Given the description of an element on the screen output the (x, y) to click on. 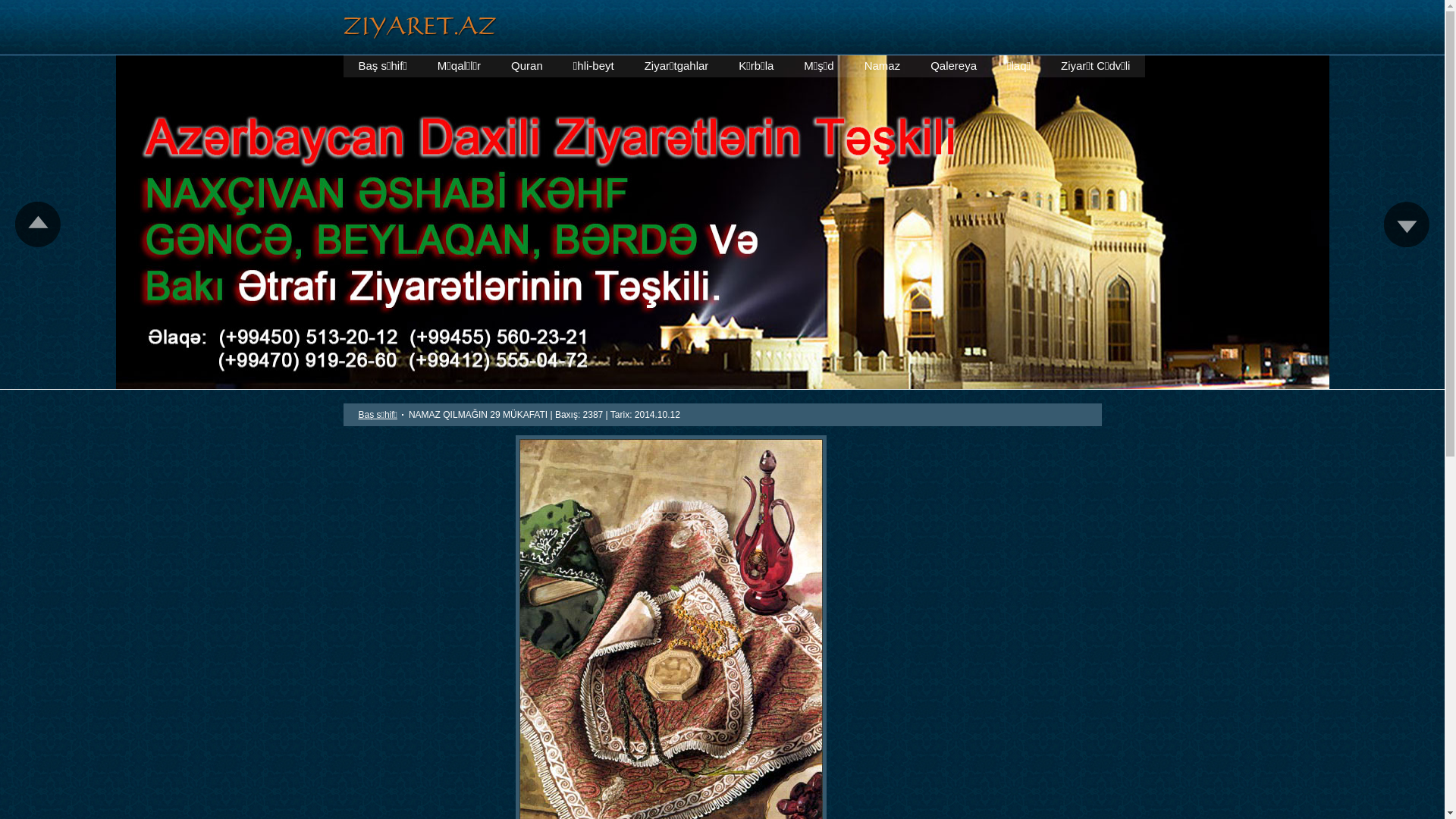
Quran Element type: text (526, 65)
Namaz Element type: text (882, 65)
Qalereya Element type: text (953, 65)
